Given the description of an element on the screen output the (x, y) to click on. 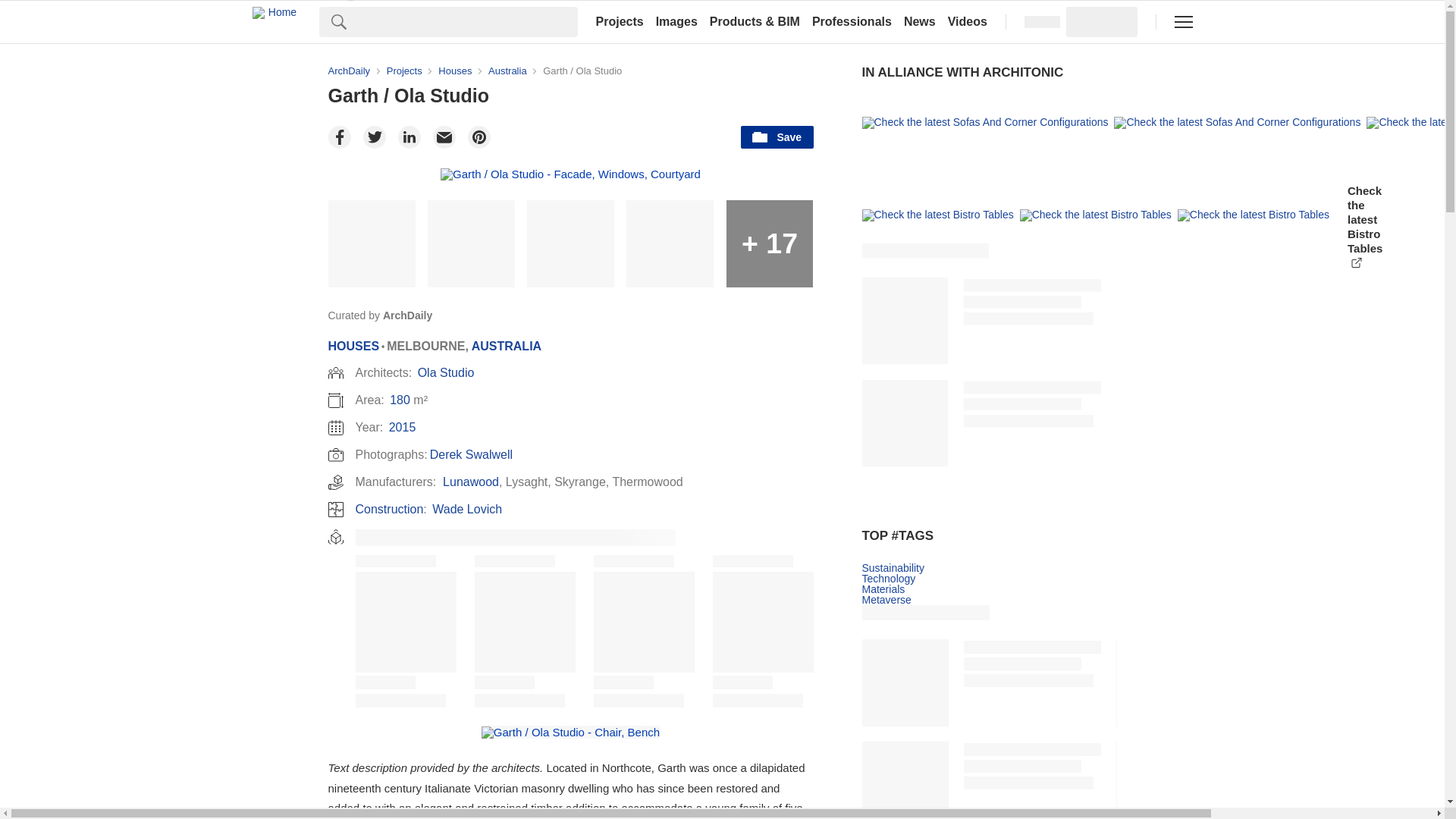
Professionals (852, 21)
Images (676, 21)
News (920, 21)
Projects (619, 21)
Videos (967, 21)
